Given the description of an element on the screen output the (x, y) to click on. 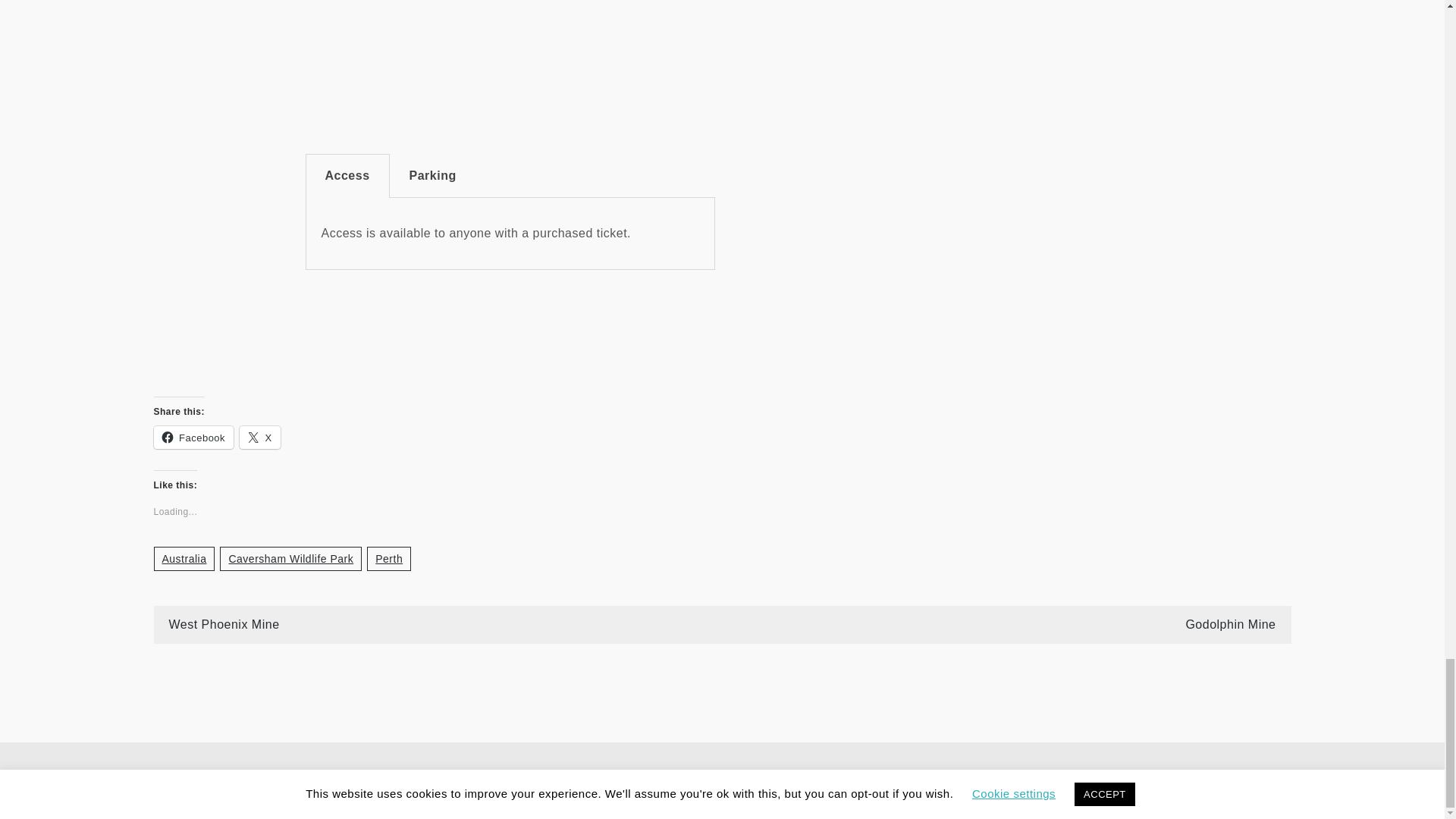
West Phoenix Mine (223, 624)
Australia (183, 558)
Privacy Policy (1255, 779)
Perth (388, 558)
Facebook (192, 436)
Godolphin Mine (1230, 624)
Caversham Wildlife Park (290, 558)
Shark Themes (1174, 779)
X (260, 436)
Click to share on X (260, 436)
caversham wildlife park (933, 267)
Click to share on Facebook (192, 436)
